Given the description of an element on the screen output the (x, y) to click on. 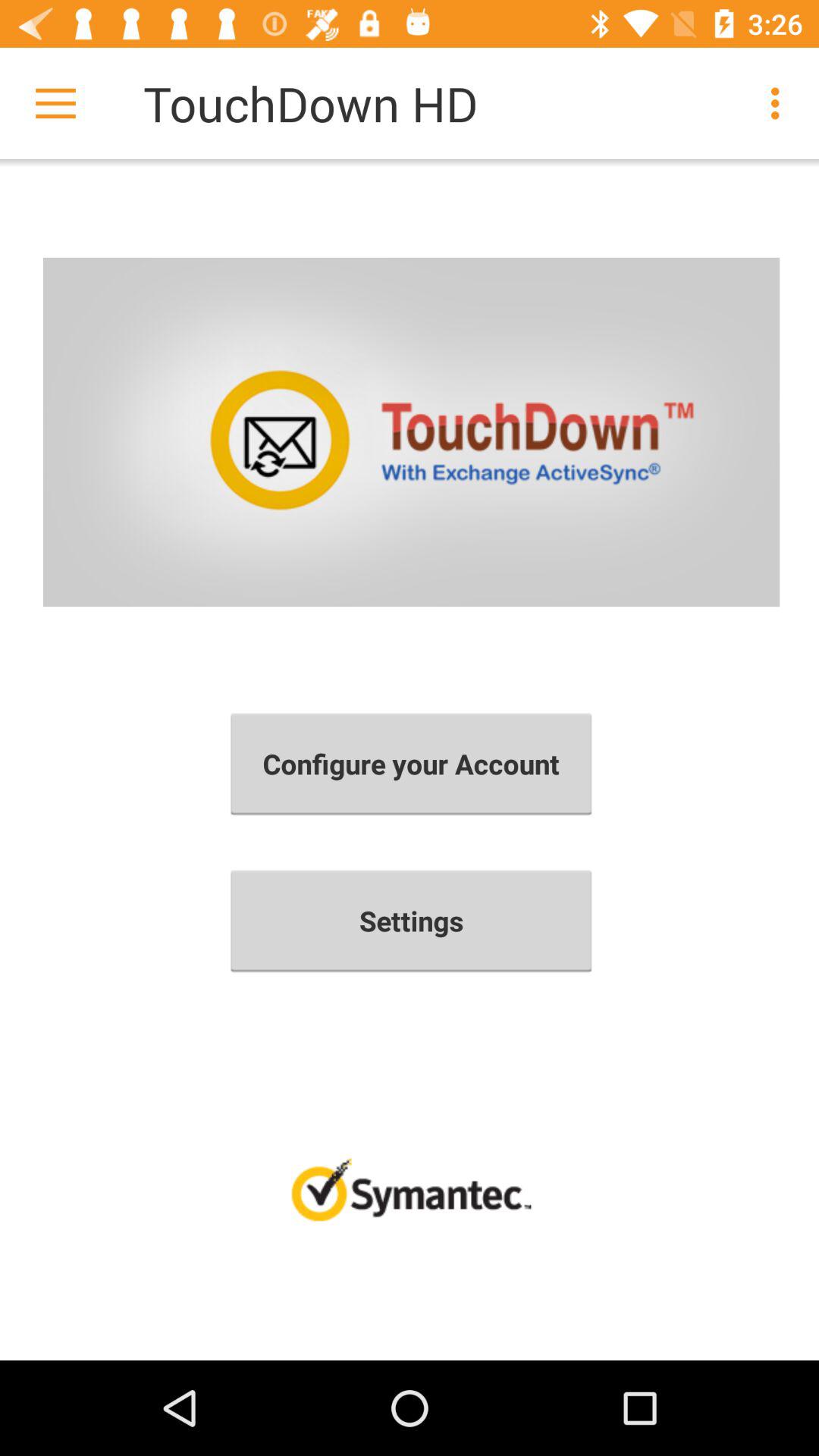
tap item below configure your account icon (410, 920)
